Given the description of an element on the screen output the (x, y) to click on. 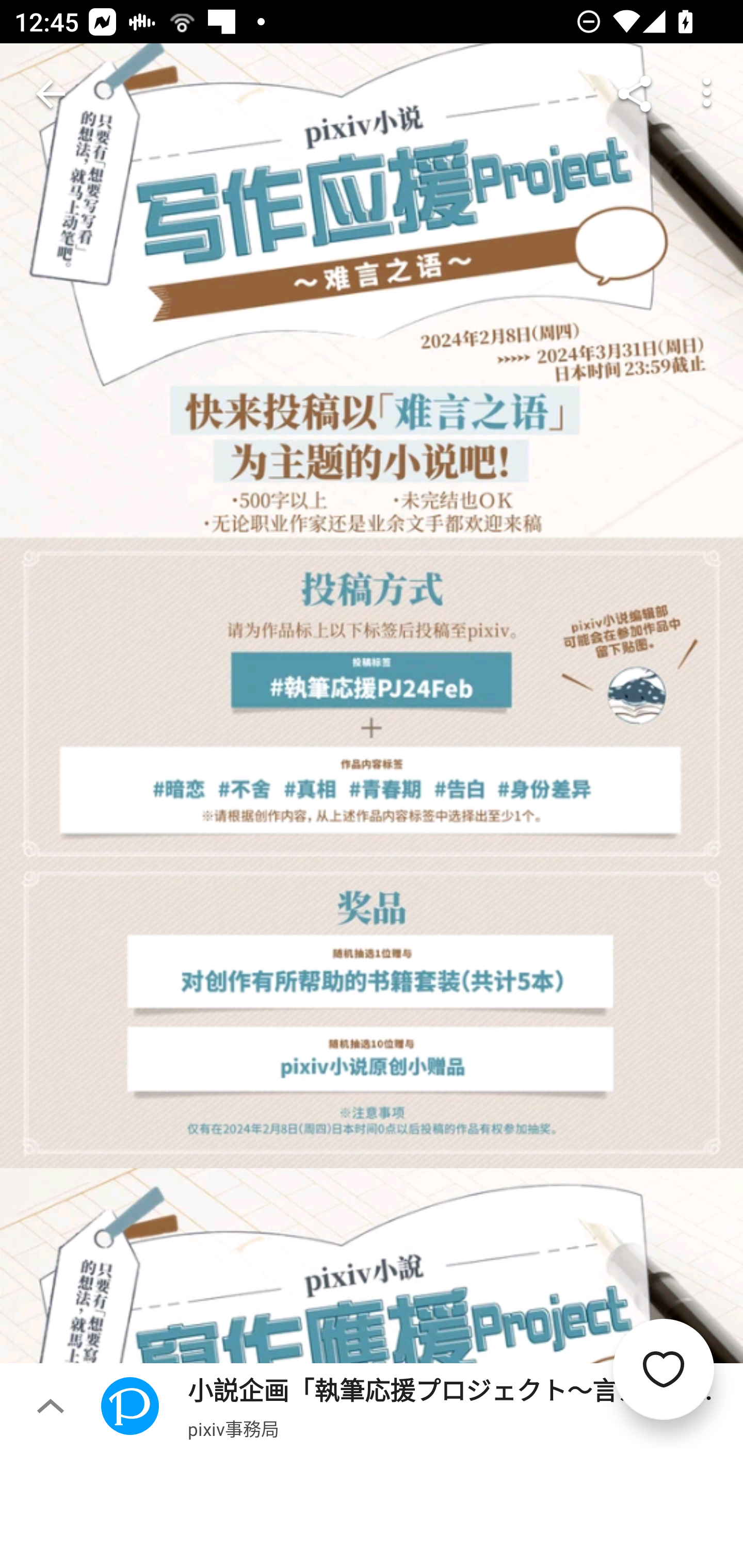
Share (634, 93)
More options (706, 93)
小説企画「執筆応援プロジェクト～言えなかったひとこと～」開催 pixiv事務局 (422, 1405)
pixiv事務局 (233, 1427)
